Given the description of an element on the screen output the (x, y) to click on. 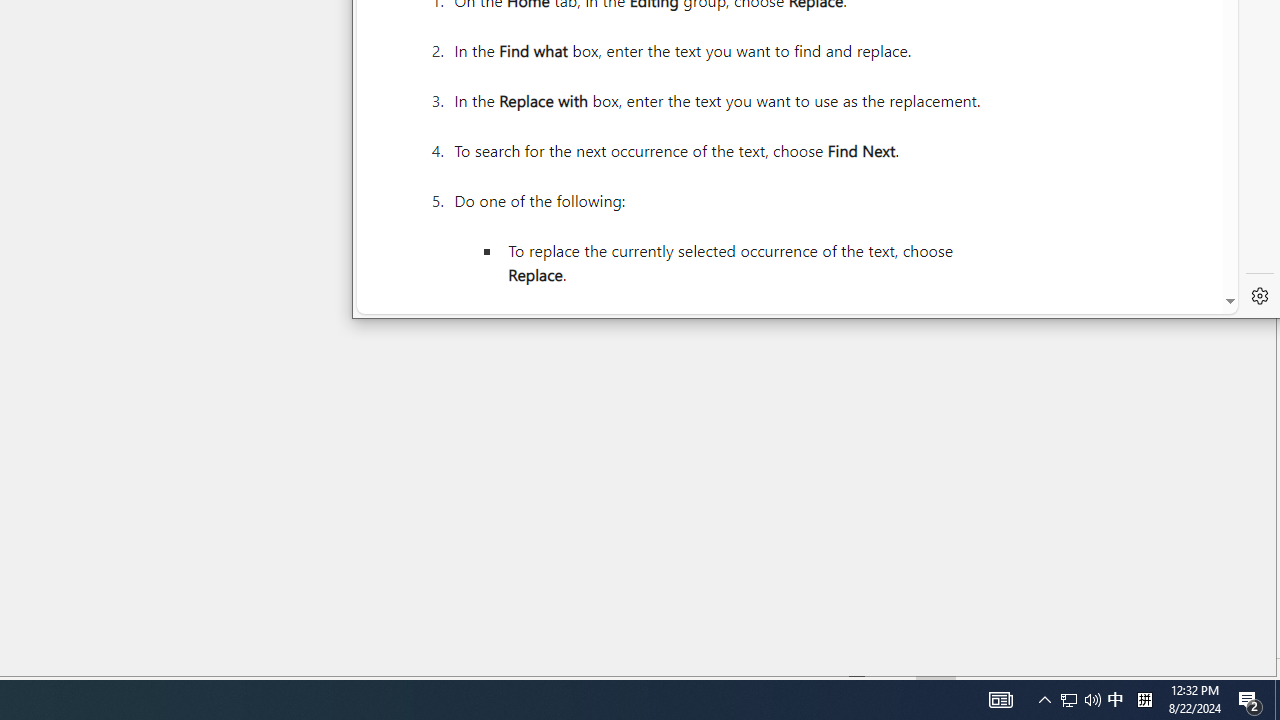
Zoom 150% (1234, 668)
Settings (1259, 295)
